Given the description of an element on the screen output the (x, y) to click on. 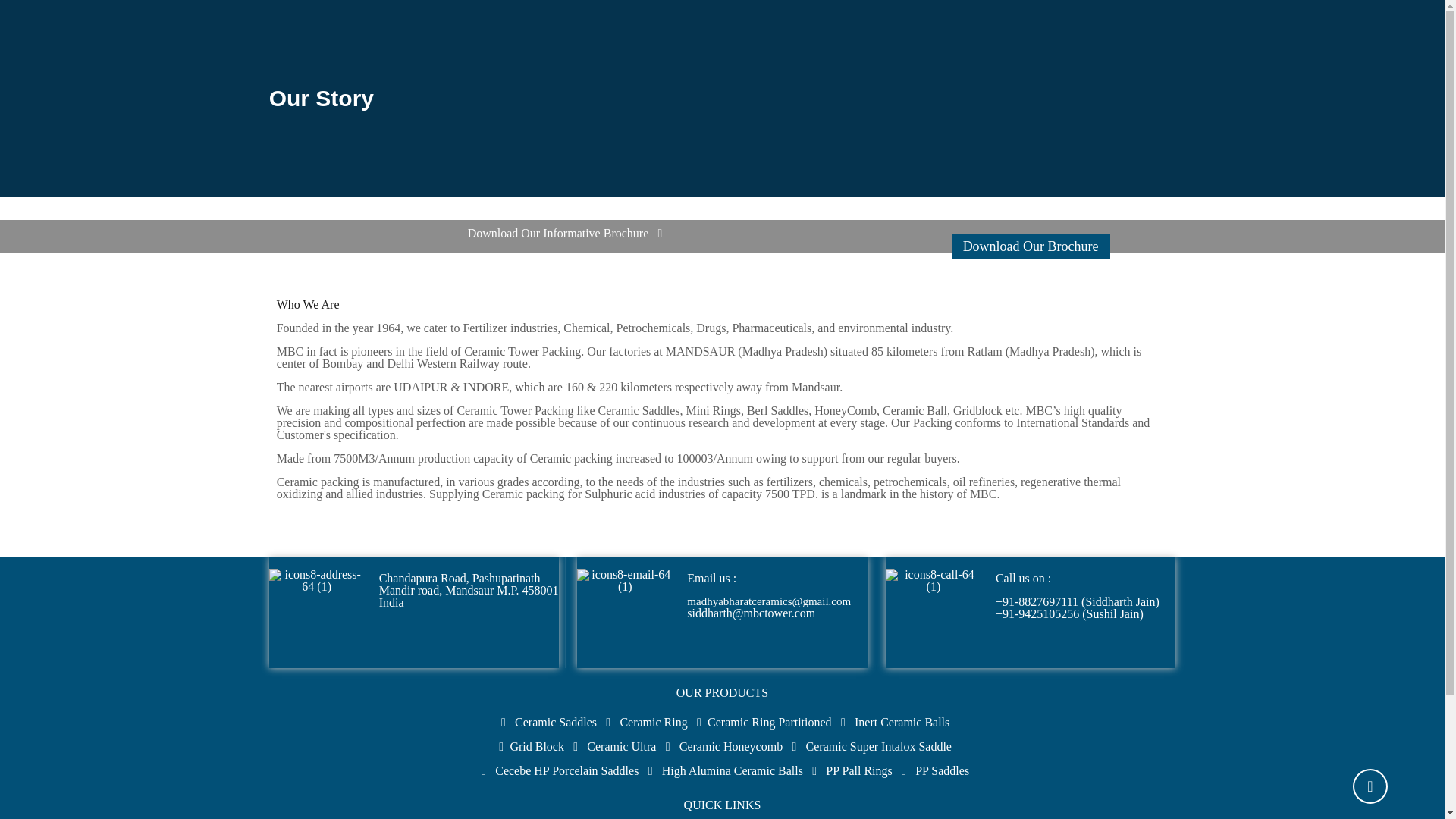
Download Our Brochure (1030, 246)
Inert Ceramic Balls (901, 721)
Ceramic Saddles (555, 721)
Ceramic Ring (653, 721)
Ceramic Ring Partitioned (769, 721)
